Given the description of an element on the screen output the (x, y) to click on. 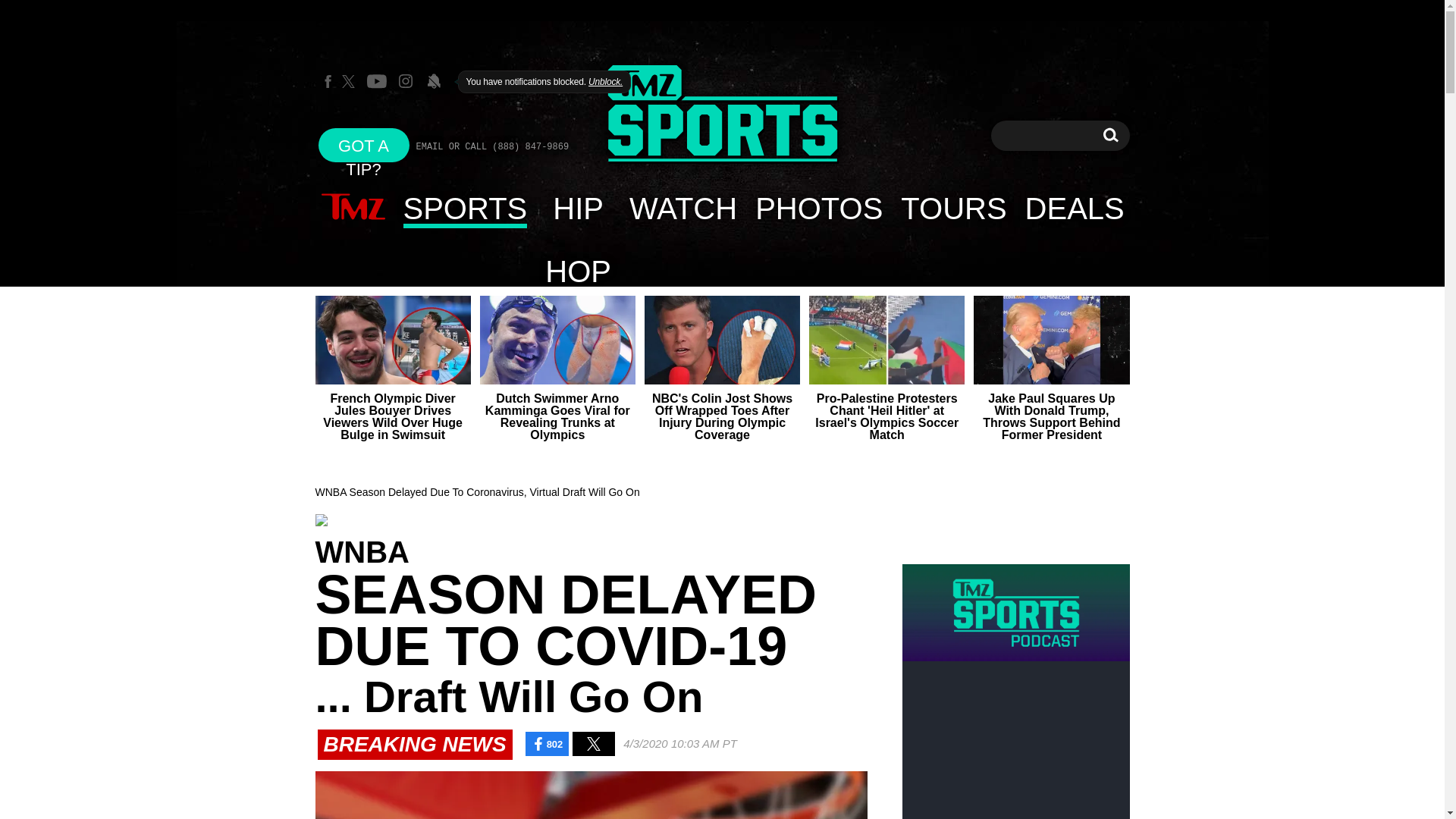
Search (1110, 134)
PHOTOS (818, 207)
TMZ Sports (722, 115)
SPORTS (465, 207)
NEWS (353, 207)
WATCH (682, 207)
HIP HOP (577, 207)
GOT A TIP? (363, 144)
TOURS (952, 207)
TMZ Sports (1110, 135)
DEALS (722, 113)
